Given the description of an element on the screen output the (x, y) to click on. 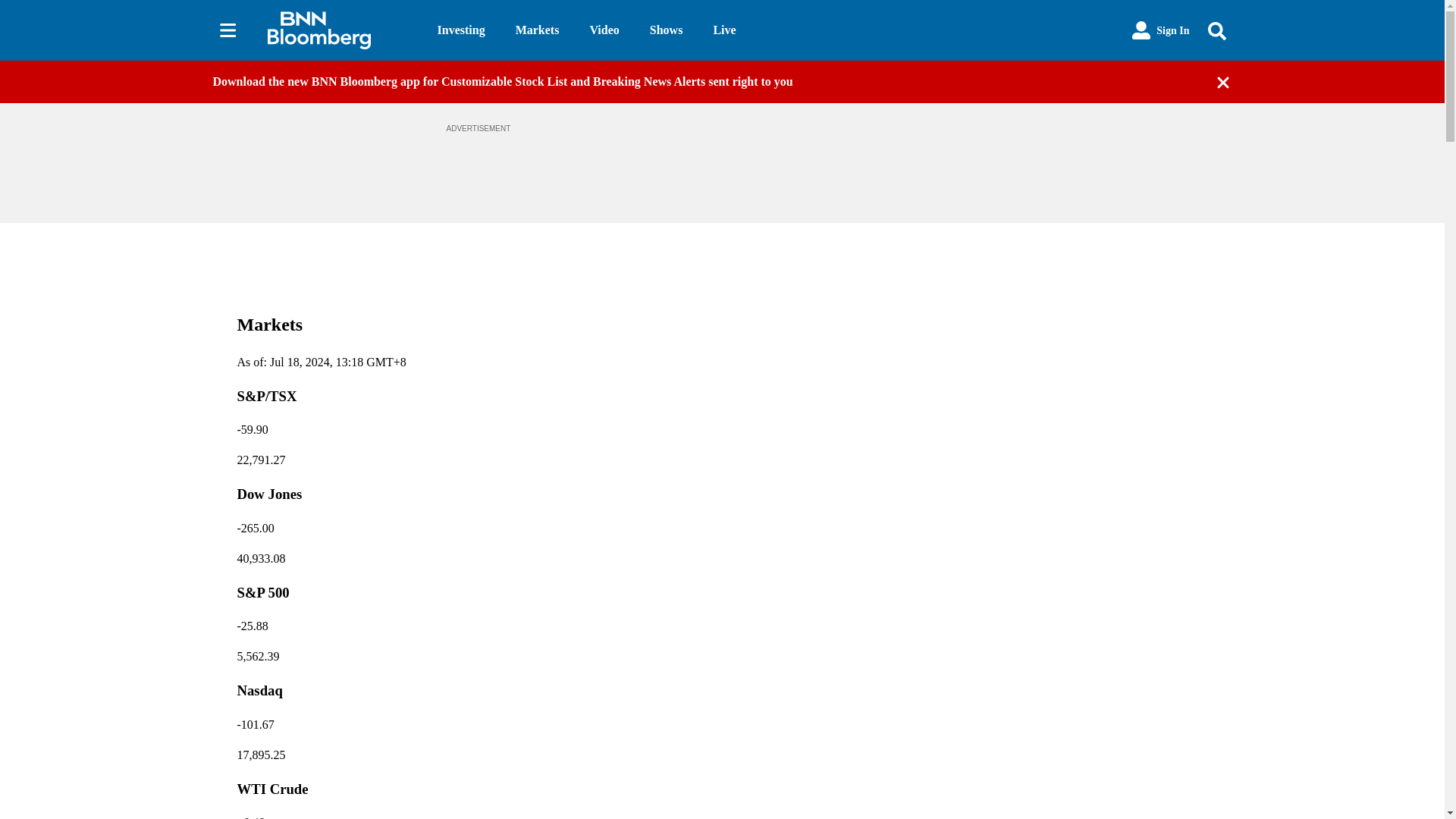
Live (724, 30)
Sections (227, 30)
Sign In (1160, 30)
Shows (665, 30)
Investing (460, 30)
Video (603, 30)
Markets (537, 30)
BNN Bloomberg (339, 30)
